Given the description of an element on the screen output the (x, y) to click on. 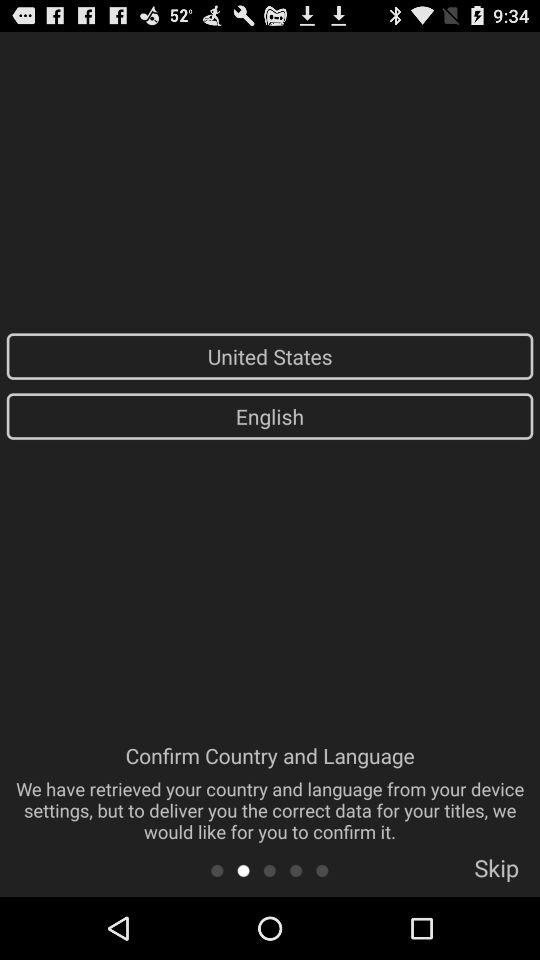
press the english (269, 416)
